Given the description of an element on the screen output the (x, y) to click on. 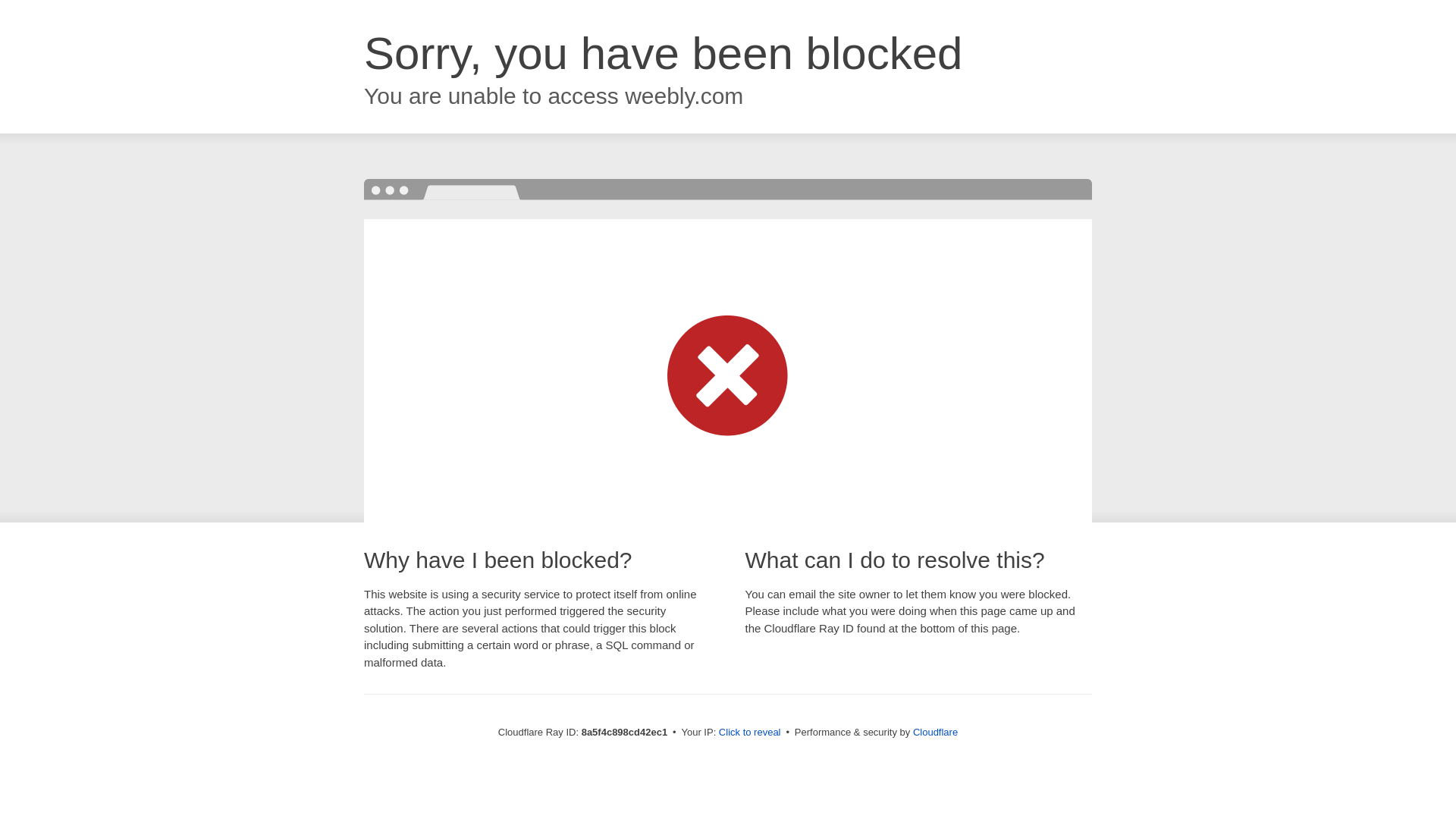
Cloudflare (935, 731)
Click to reveal (749, 732)
